Given the description of an element on the screen output the (x, y) to click on. 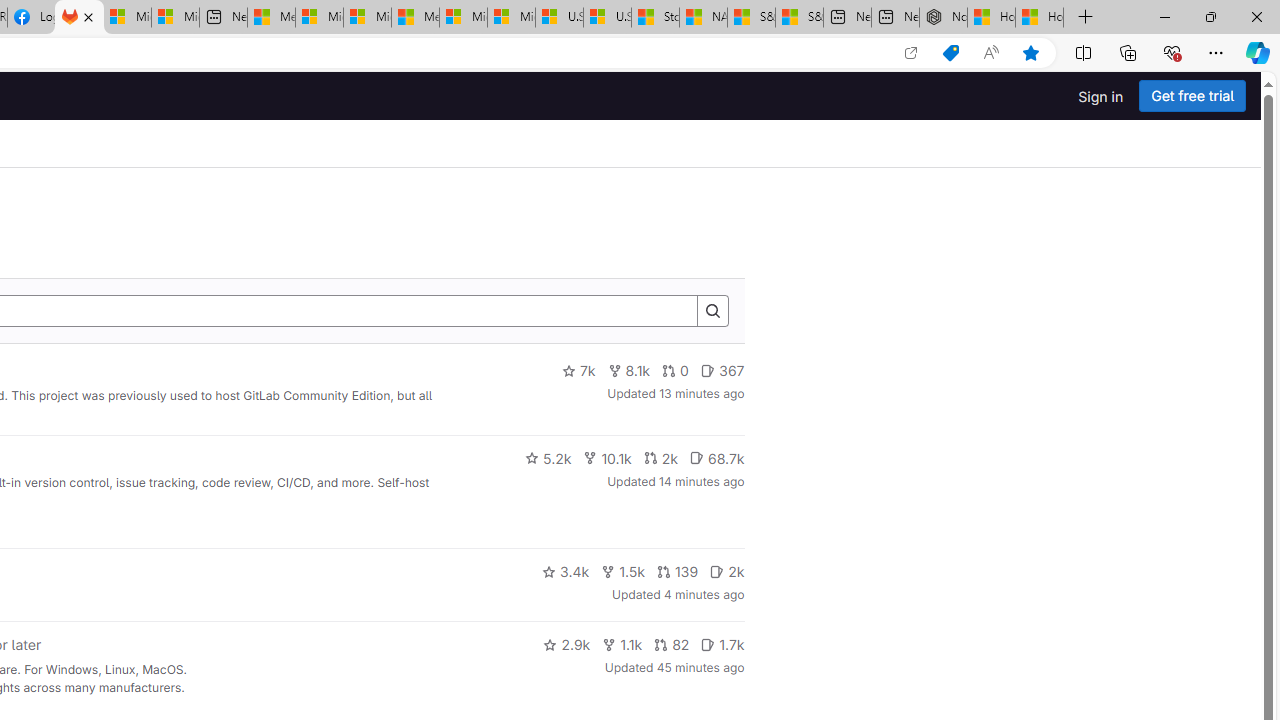
10.1k (607, 457)
Shopping in Microsoft Edge (950, 53)
Get free trial (1192, 95)
Get free trial (1192, 95)
2.9k (566, 644)
2k (727, 571)
How to Use a Monitor With Your Closed Laptop (1039, 17)
Microsoft account | Privacy (319, 17)
